Given the description of an element on the screen output the (x, y) to click on. 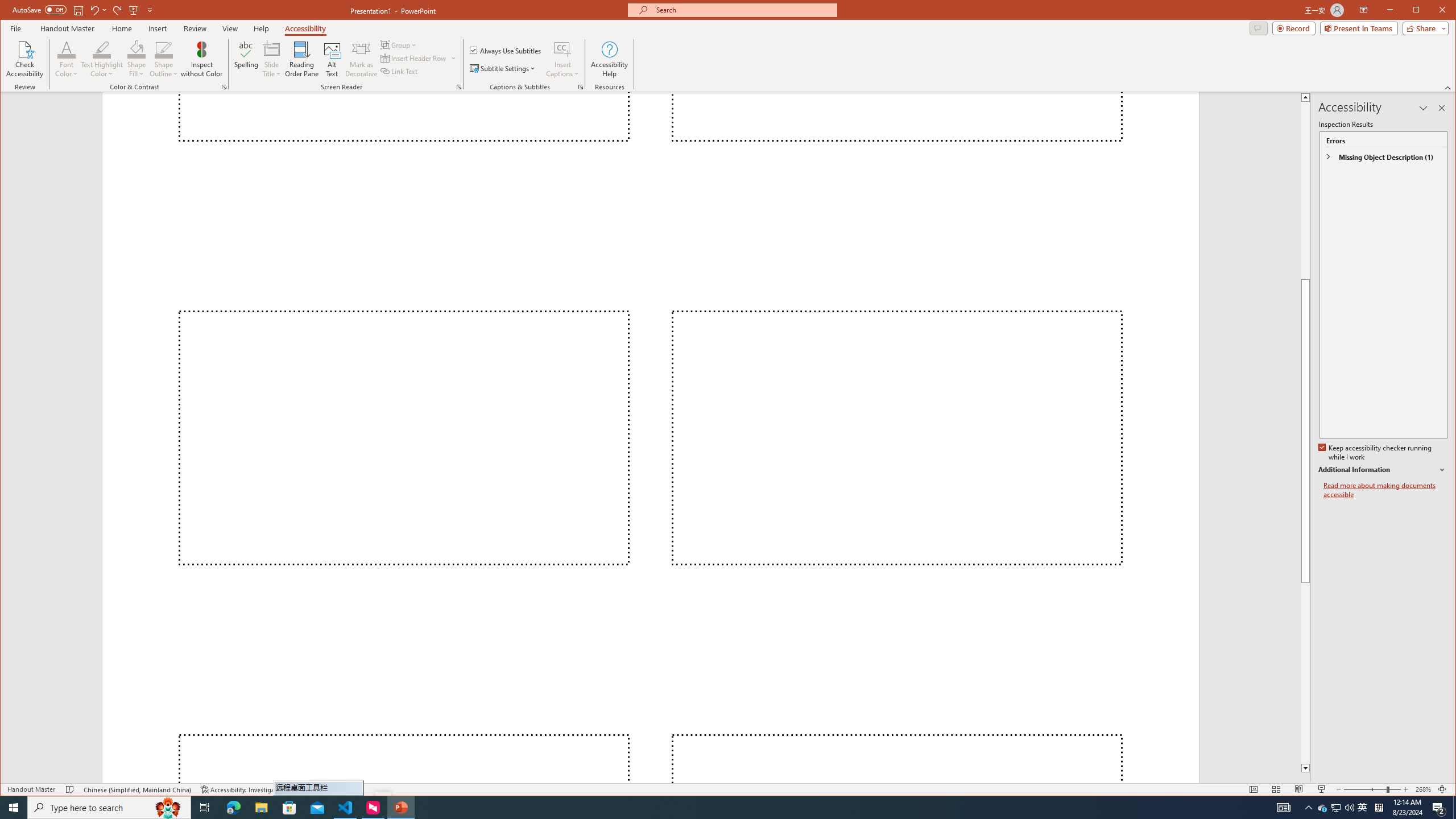
Show desktop (1454, 807)
Font Color (66, 59)
Notification Chevron (1308, 807)
Tray Input Indicator - Chinese (Simplified, China) (1378, 807)
Font Color (66, 48)
Shape Fill Orange, Accent 2 (136, 48)
Group (399, 44)
Subtitle Settings (502, 68)
Inspect without Color (201, 59)
